Given the description of an element on the screen output the (x, y) to click on. 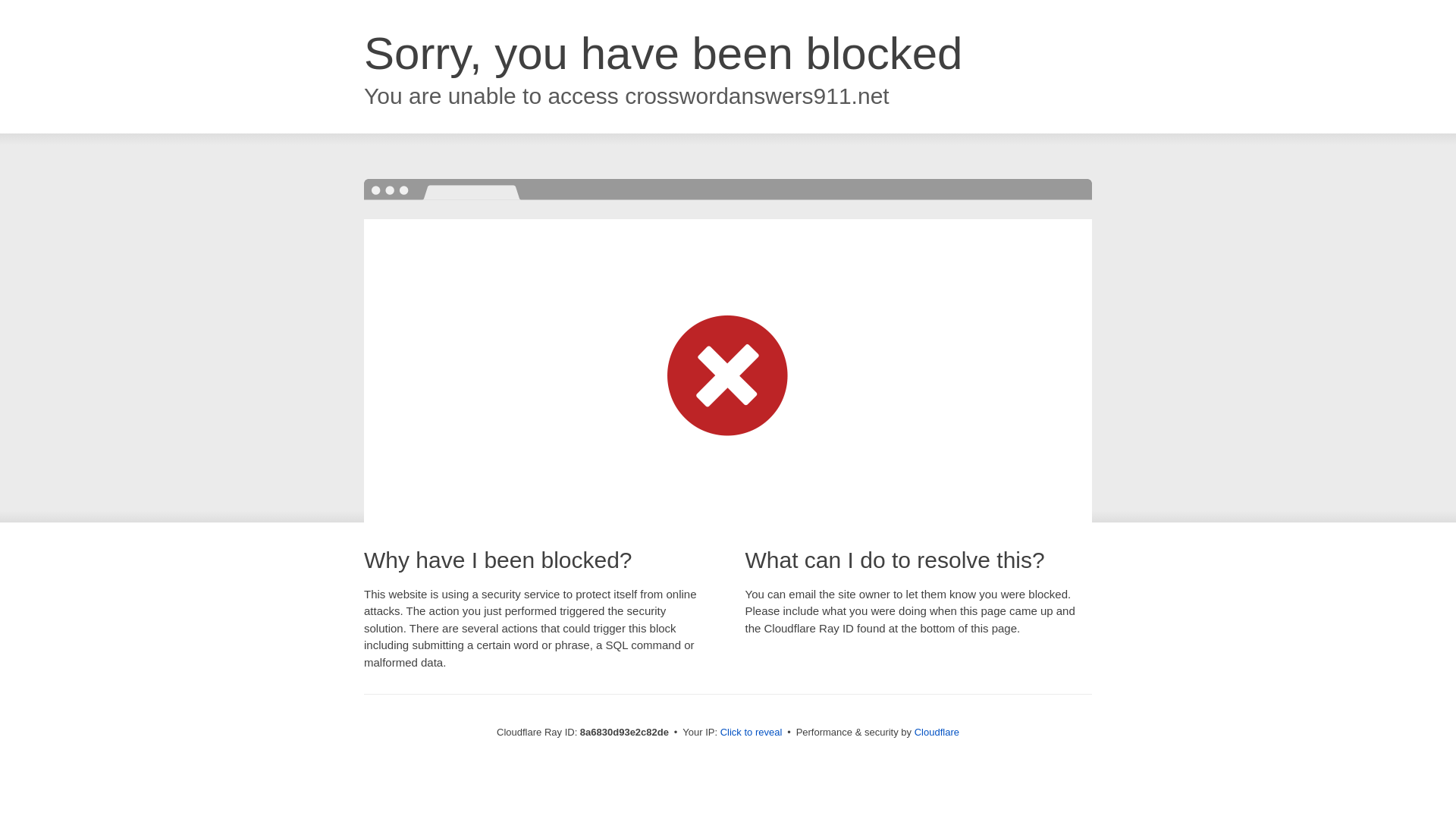
Cloudflare (936, 731)
Click to reveal (751, 732)
